Given the description of an element on the screen output the (x, y) to click on. 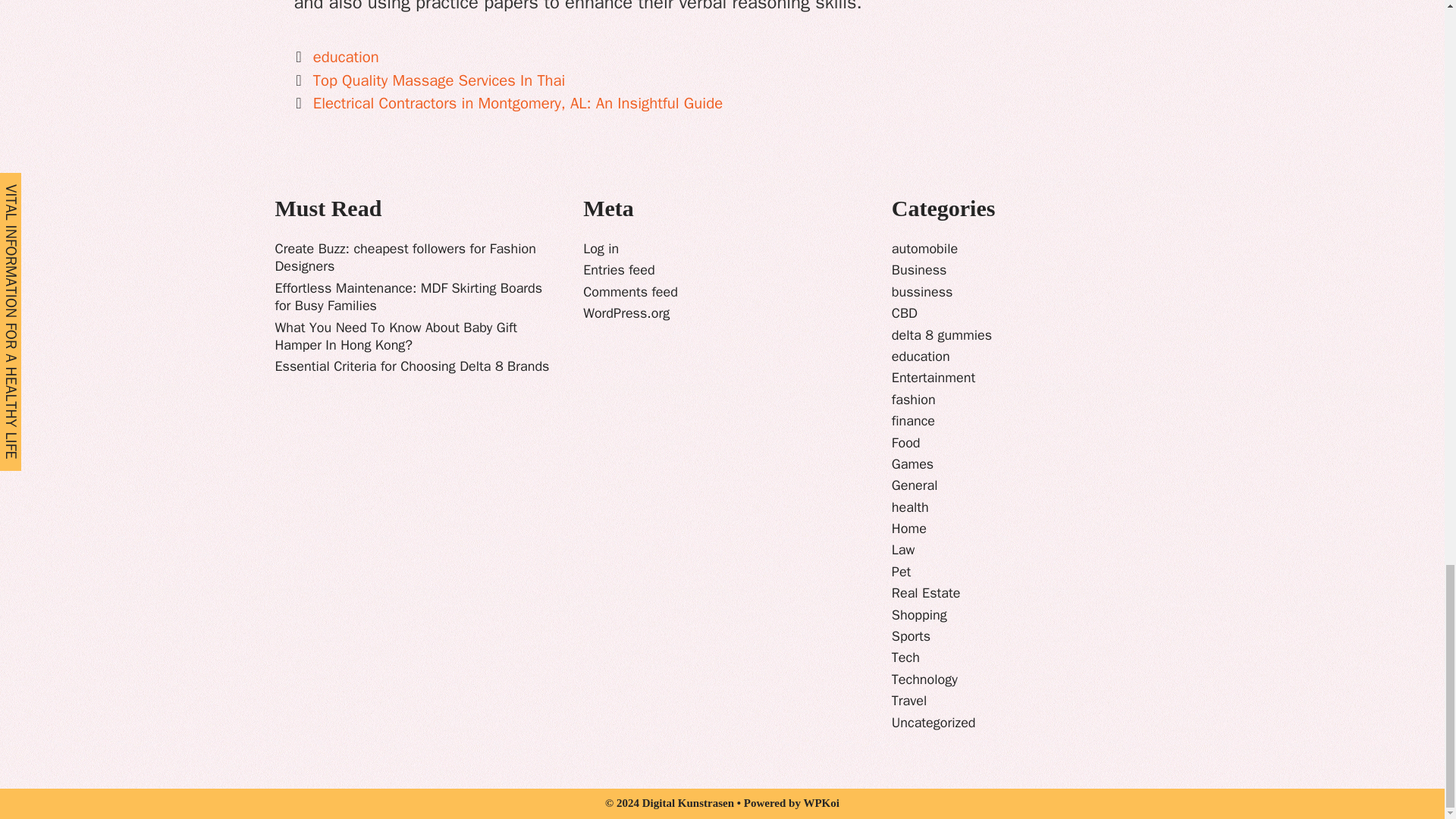
Top Quality Massage Services In Thai (439, 80)
bussiness (922, 291)
Next (508, 103)
Entries feed (619, 269)
Business (919, 269)
Log in (600, 248)
What You Need To Know About Baby Gift Hamper In Hong Kong? (395, 335)
Comments feed (630, 291)
Previous (430, 80)
education (345, 56)
WordPress.org (626, 312)
automobile (924, 248)
Create Buzz: cheapest followers for Fashion Designers (405, 257)
Essential Criteria for Choosing Delta 8 Brands (411, 365)
